Given the description of an element on the screen output the (x, y) to click on. 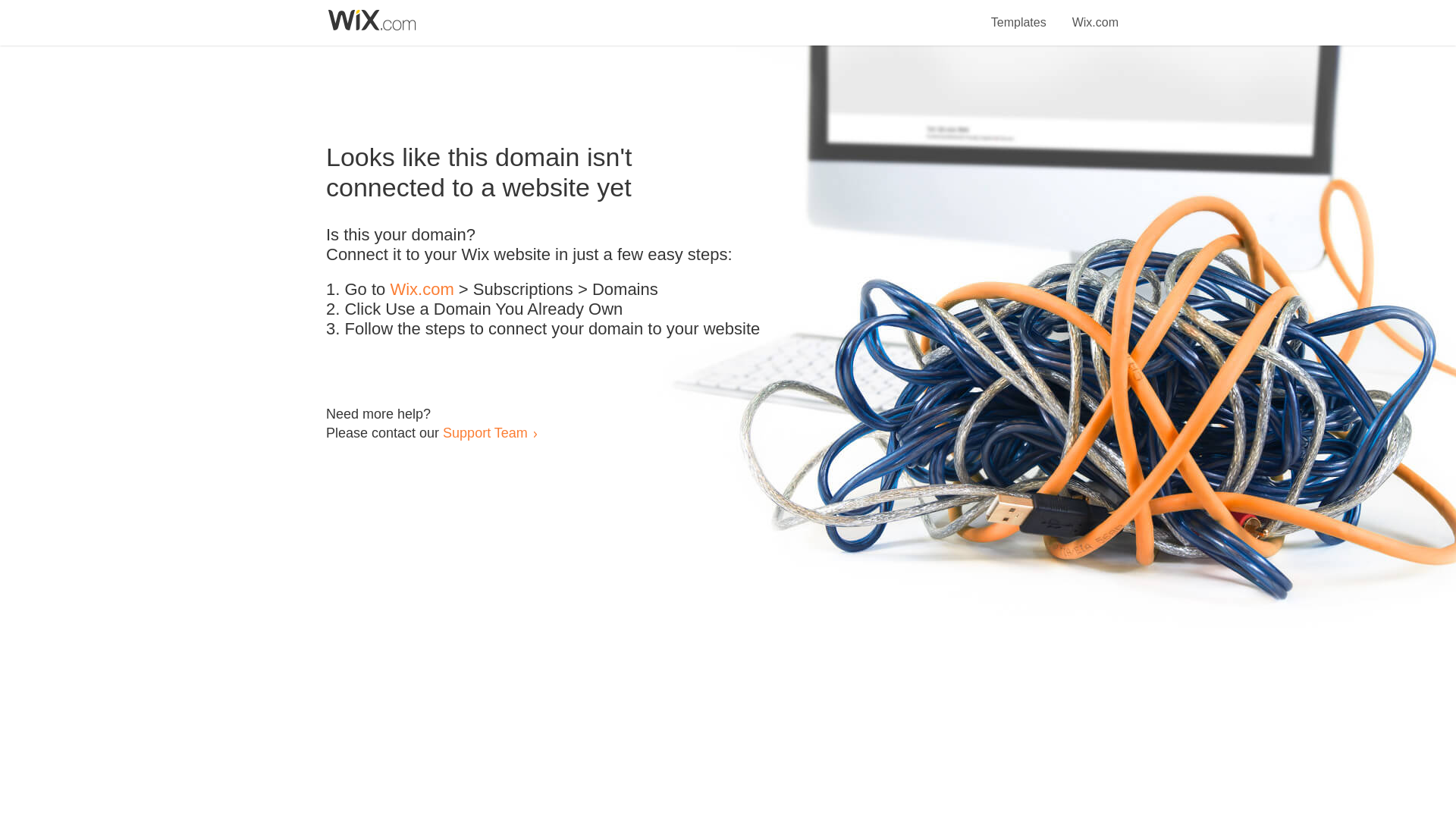
Templates (1018, 14)
Wix.com (421, 289)
Support Team (484, 432)
Wix.com (1095, 14)
